Given the description of an element on the screen output the (x, y) to click on. 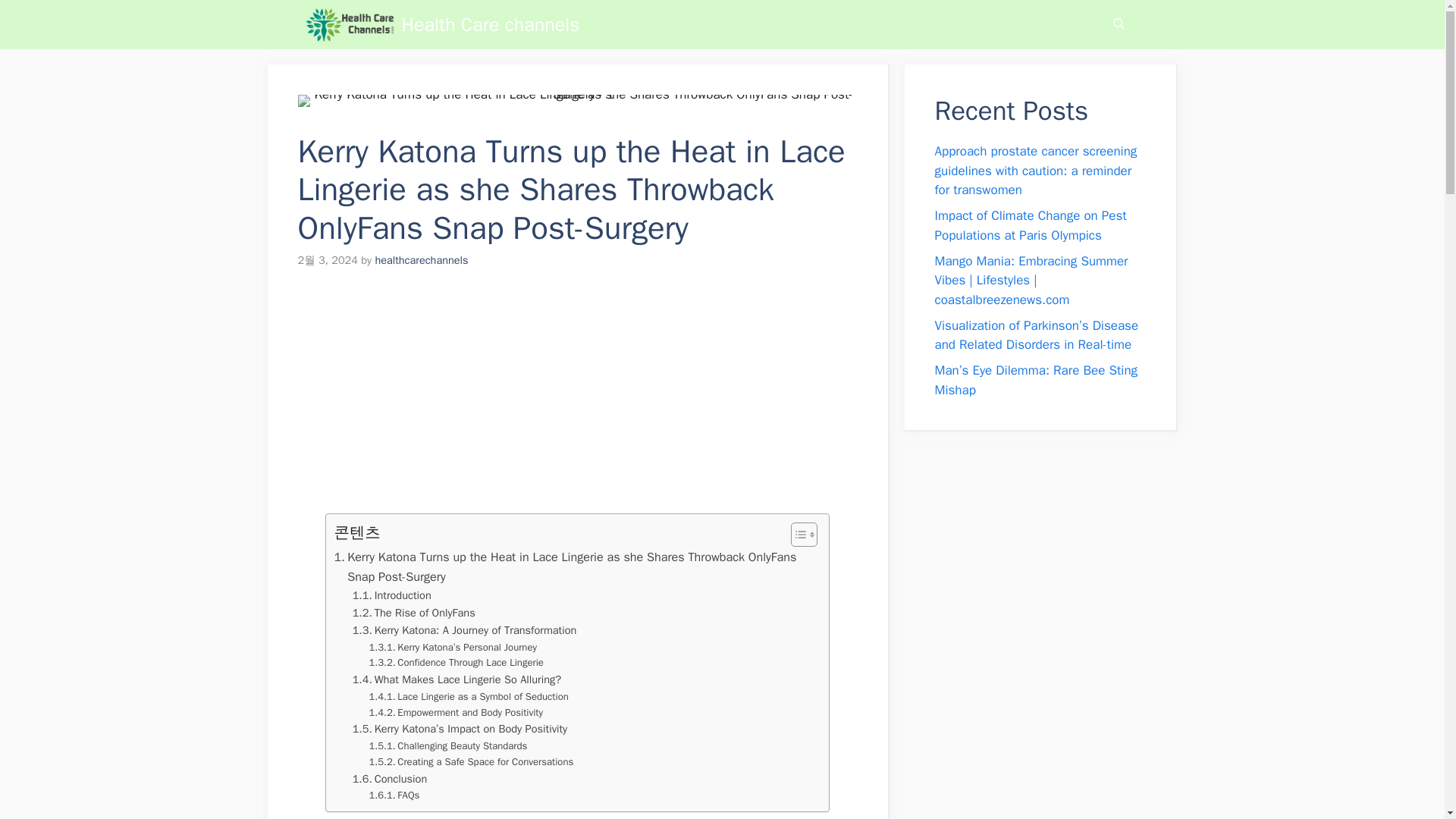
FAQs (393, 795)
What Makes Lace Lingerie So Alluring? (456, 679)
Kerry Katona: A Journey of Transformation (464, 630)
Lace Lingerie as a Symbol of Seduction (467, 697)
Advertisement (569, 400)
Introduction (391, 595)
Empowerment and Body Positivity (455, 713)
Confidence Through Lace Lingerie (455, 662)
